Given the description of an element on the screen output the (x, y) to click on. 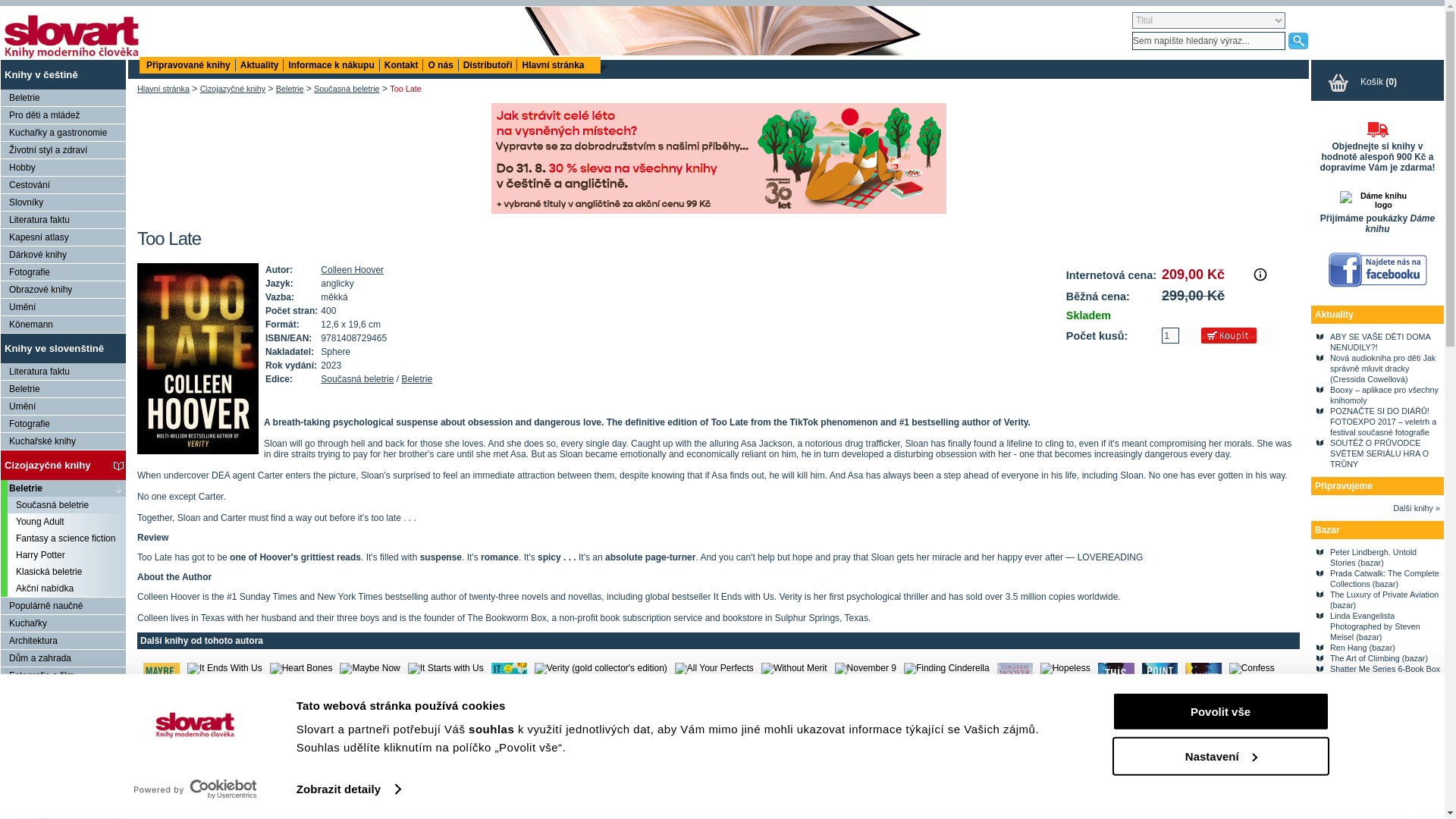
souhlas  (493, 728)
Zobrazit detaily (348, 789)
1 (1170, 335)
